Given the description of an element on the screen output the (x, y) to click on. 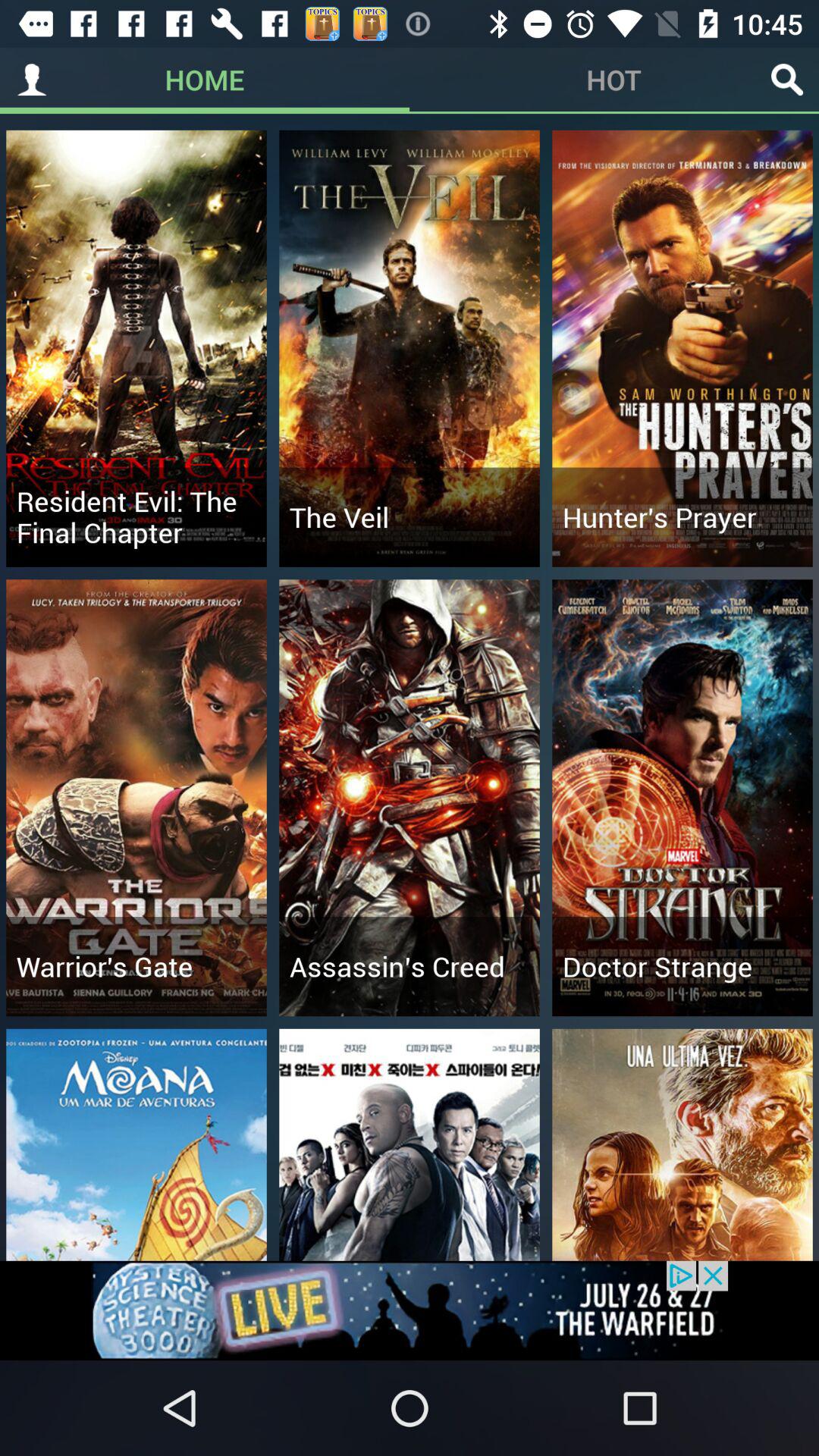
click on 1st image in 2nd row (135, 797)
click on image below doctor strange (682, 1144)
move to search icon (787, 80)
click on the first image from left above live in the bottom (135, 1144)
